Given the description of an element on the screen output the (x, y) to click on. 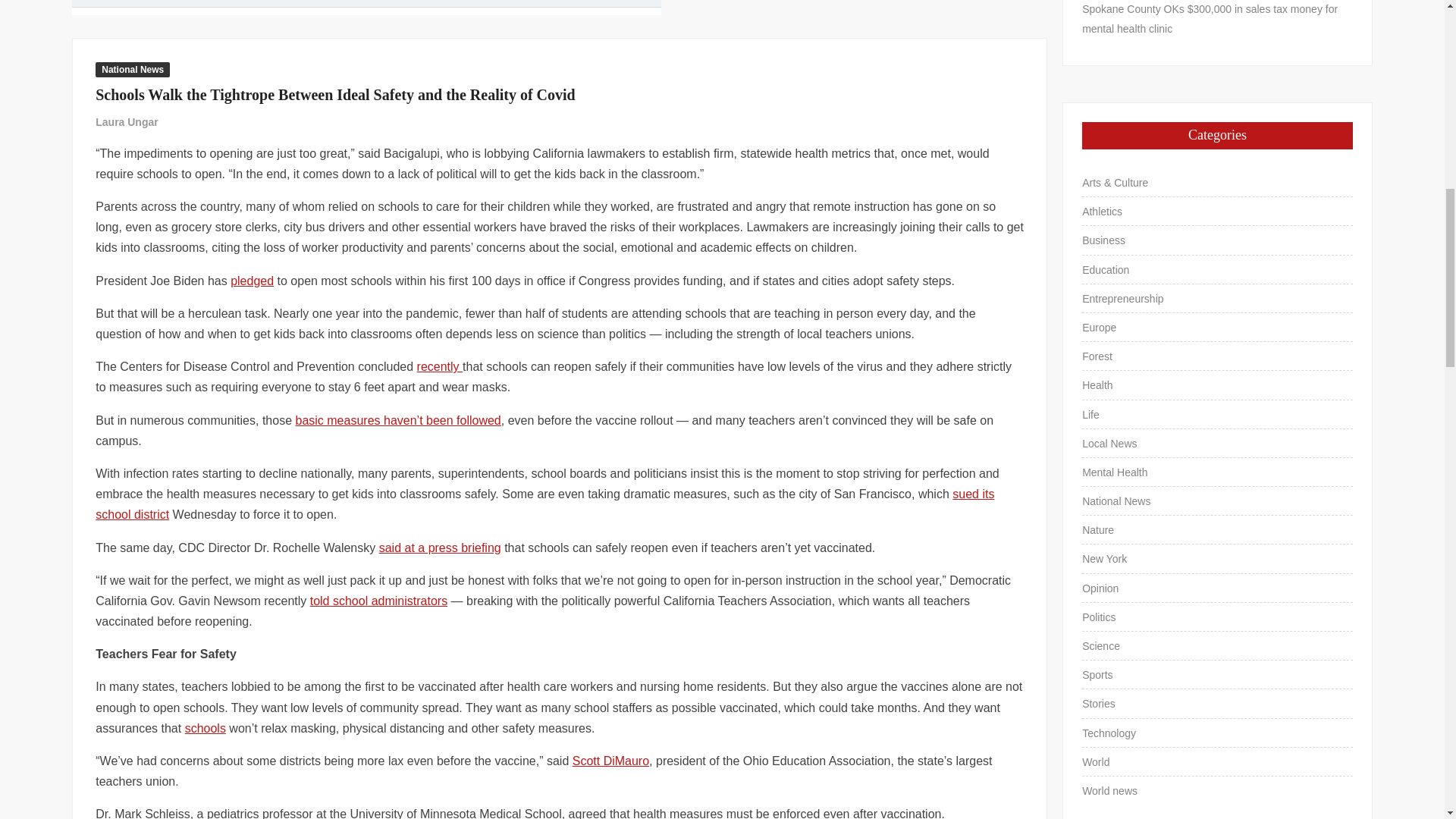
said at a press briefing (439, 547)
recently  (439, 366)
National News (133, 69)
Scott DiMauro (610, 760)
Laura Ungar (126, 121)
schools (204, 727)
pledged (251, 280)
sued its school district (545, 503)
told school administrators (378, 600)
